Given the description of an element on the screen output the (x, y) to click on. 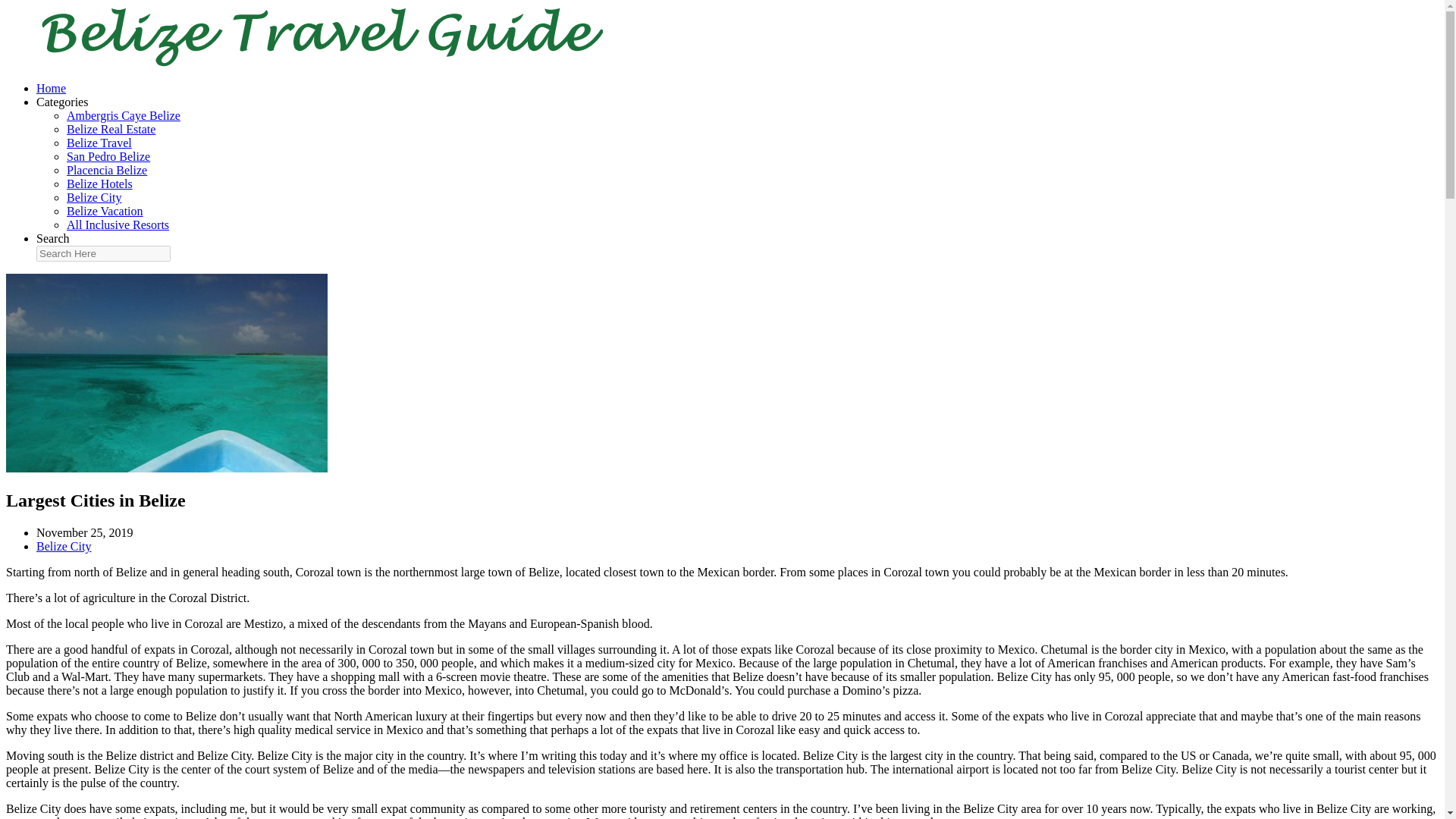
Placencia Belize (106, 169)
Belize City (63, 545)
Belize Hotels (99, 183)
San Pedro Belize (107, 155)
Search (52, 237)
All Inclusive Resorts (117, 224)
Belize Vacation (104, 210)
Belize Travel Guide (308, 62)
Belize Real Estate (110, 128)
Ambergris Caye Belize (123, 115)
Belize Travel (99, 142)
Categories (61, 101)
Belize City (93, 196)
Home (50, 88)
